Given the description of an element on the screen output the (x, y) to click on. 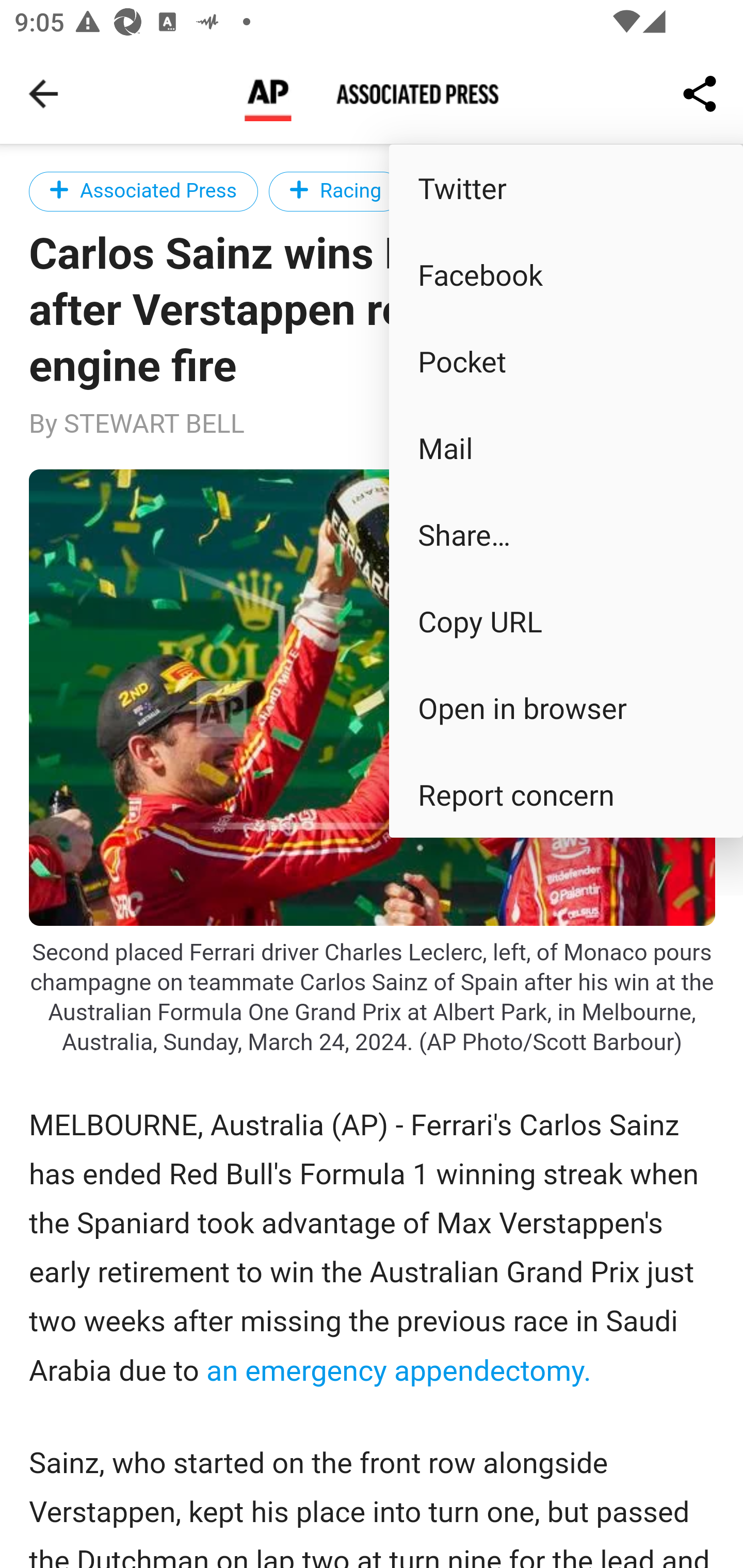
Twitter (566, 187)
Facebook (566, 274)
Pocket (566, 361)
Mail (566, 447)
Share… (566, 533)
Copy URL (566, 620)
Open in browser (566, 707)
Report concern (566, 794)
